Given the description of an element on the screen output the (x, y) to click on. 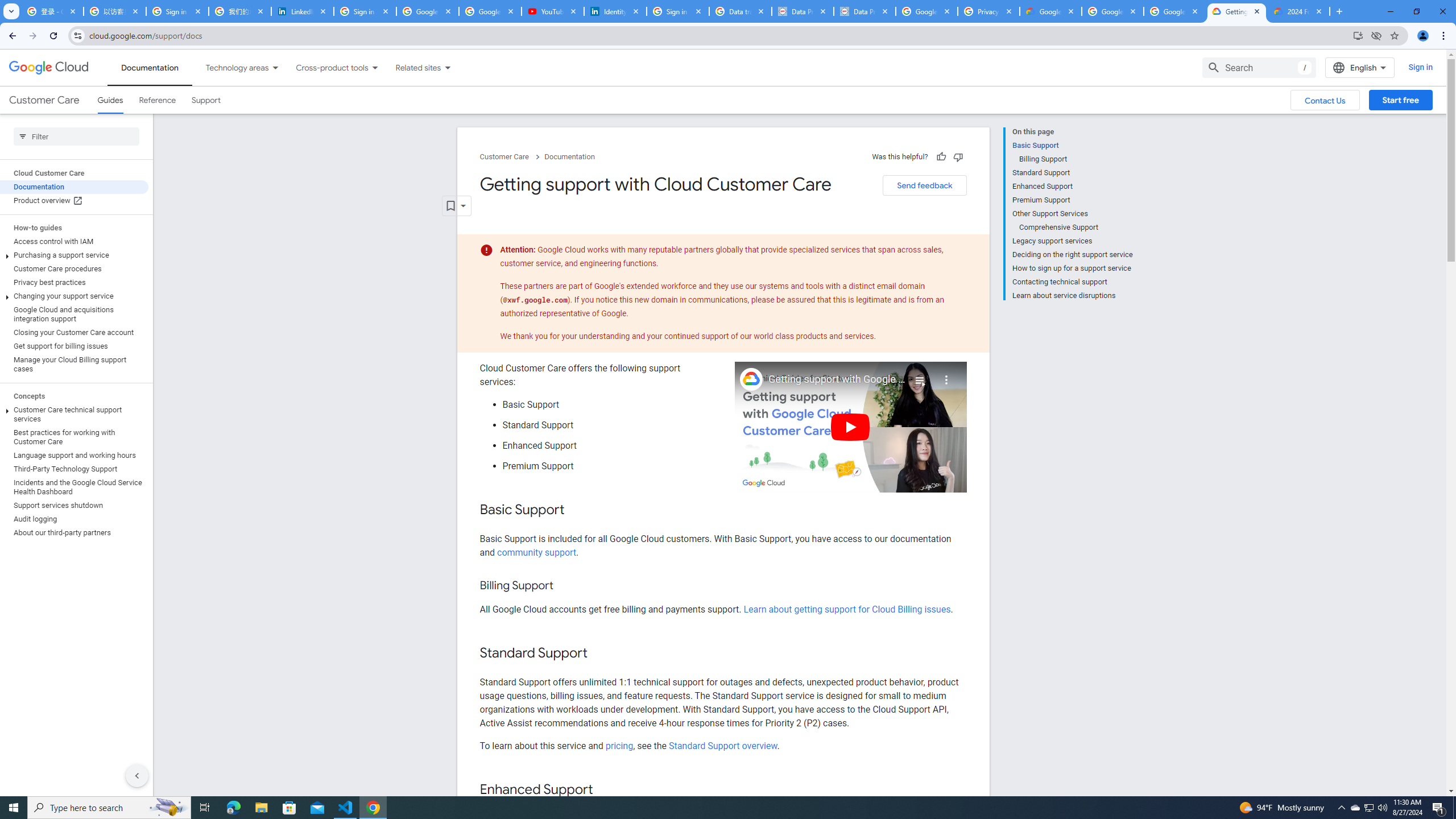
Billing Support (1075, 159)
Deciding on the right support service (1071, 254)
Hide side navigation (136, 775)
Standard Support overview (722, 745)
Copy link to this section: Standard Support (599, 653)
Playlist (919, 375)
Purchasing a support service (74, 255)
Learn about service disruptions (1071, 294)
